Given the description of an element on the screen output the (x, y) to click on. 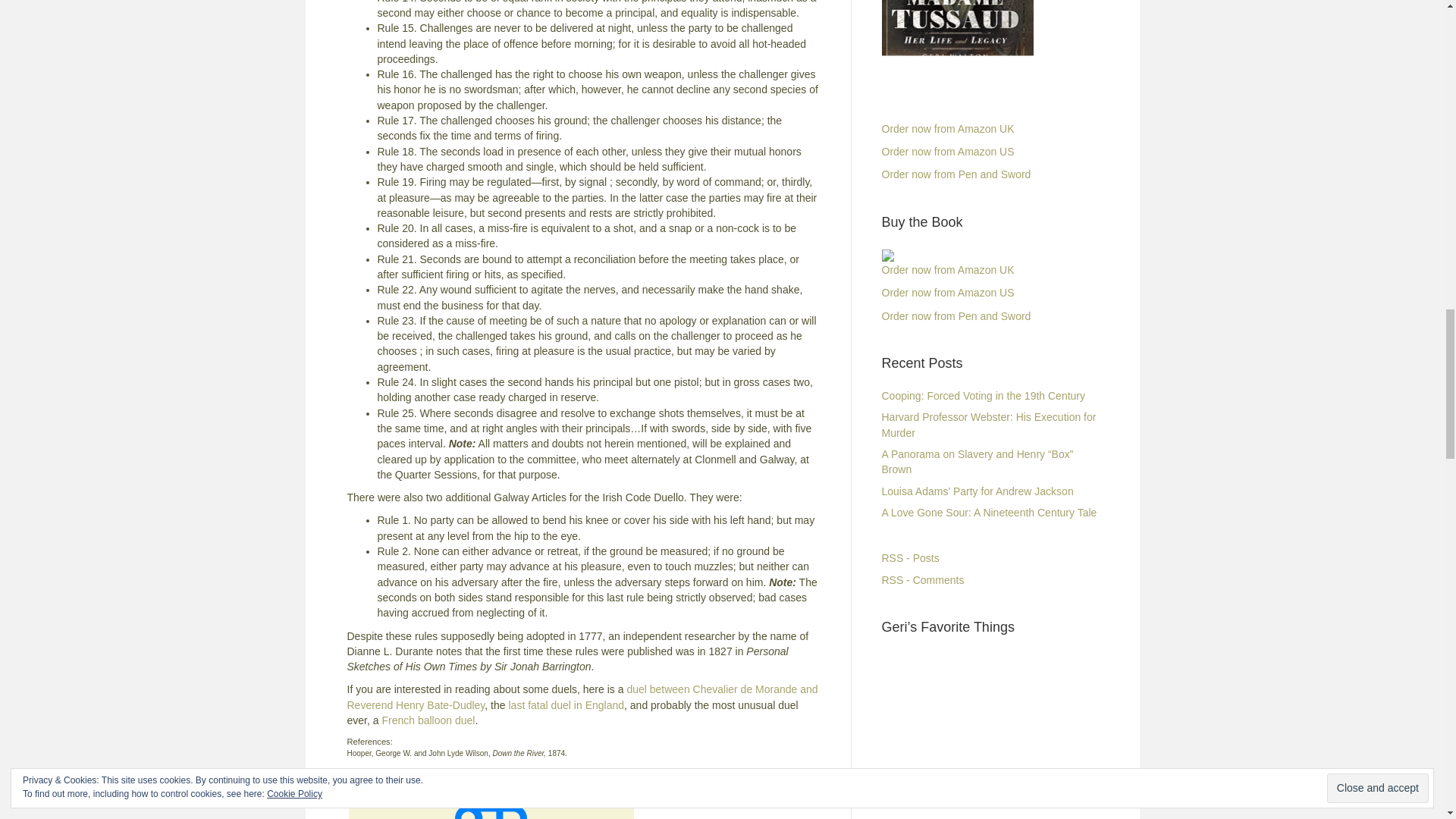
last fatal duel in England (566, 705)
Subscribe to posts (909, 558)
French balloon duel (427, 720)
Subscribe to comments (921, 579)
